Given the description of an element on the screen output the (x, y) to click on. 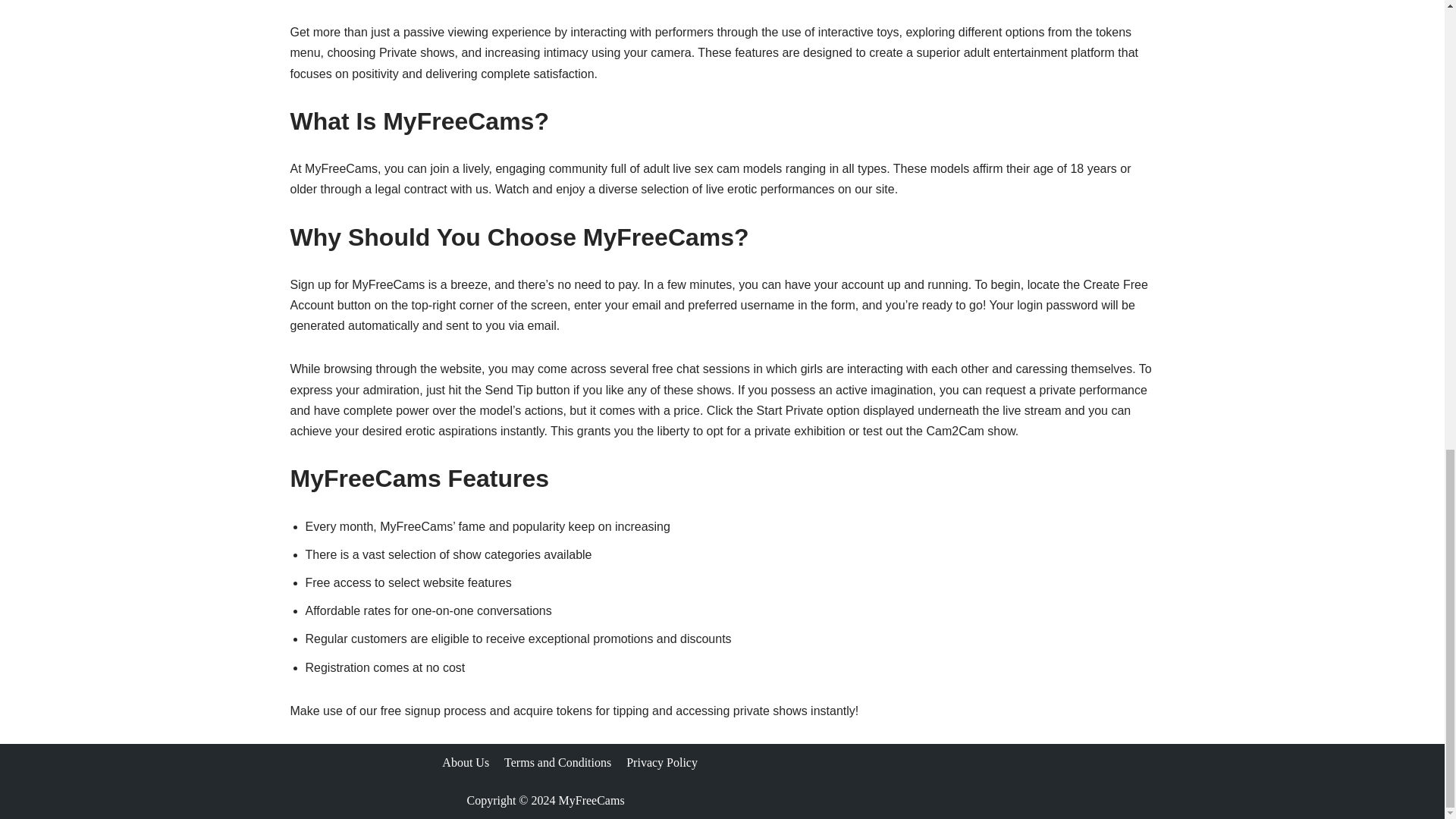
About Us (465, 762)
MyFreeCams (590, 799)
Terms and Conditions (557, 762)
Privacy Policy (661, 762)
